Given the description of an element on the screen output the (x, y) to click on. 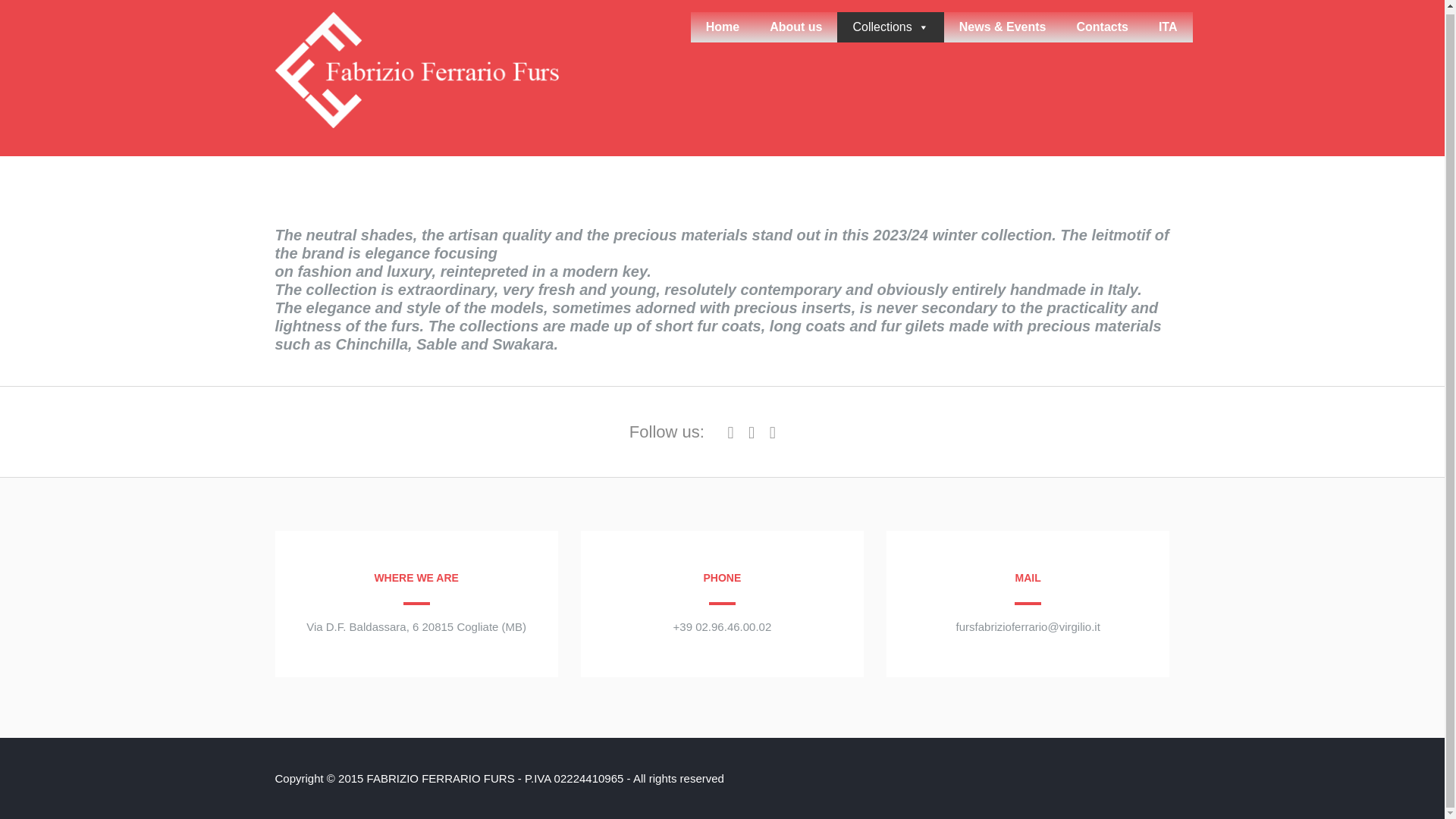
About us (795, 27)
Fabrizio Ferrario Furs (417, 123)
Collections (890, 27)
ITA (1167, 27)
Contacts (1101, 27)
Home (722, 27)
